Given the description of an element on the screen output the (x, y) to click on. 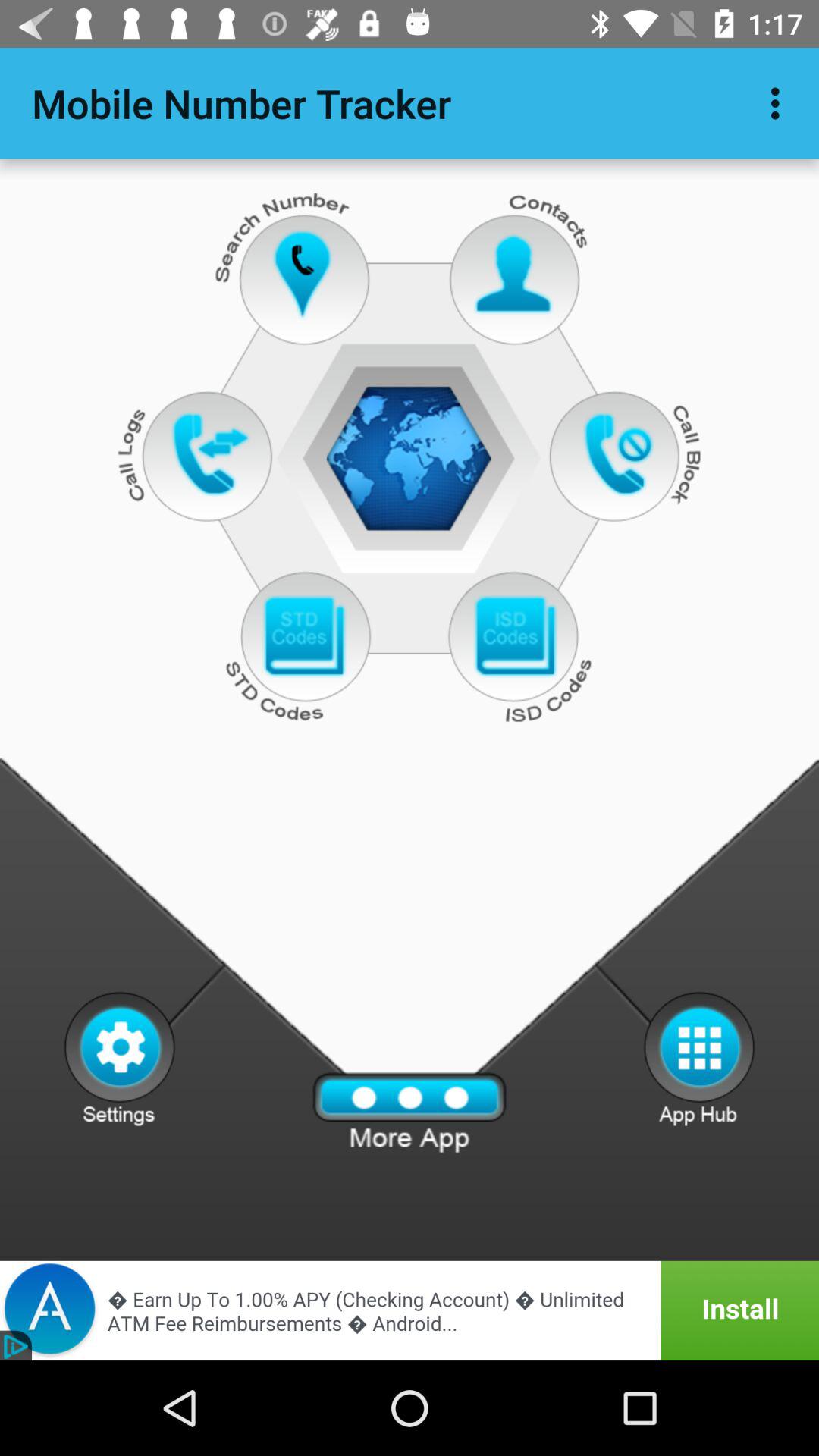
go to all (409, 1112)
